Given the description of an element on the screen output the (x, y) to click on. 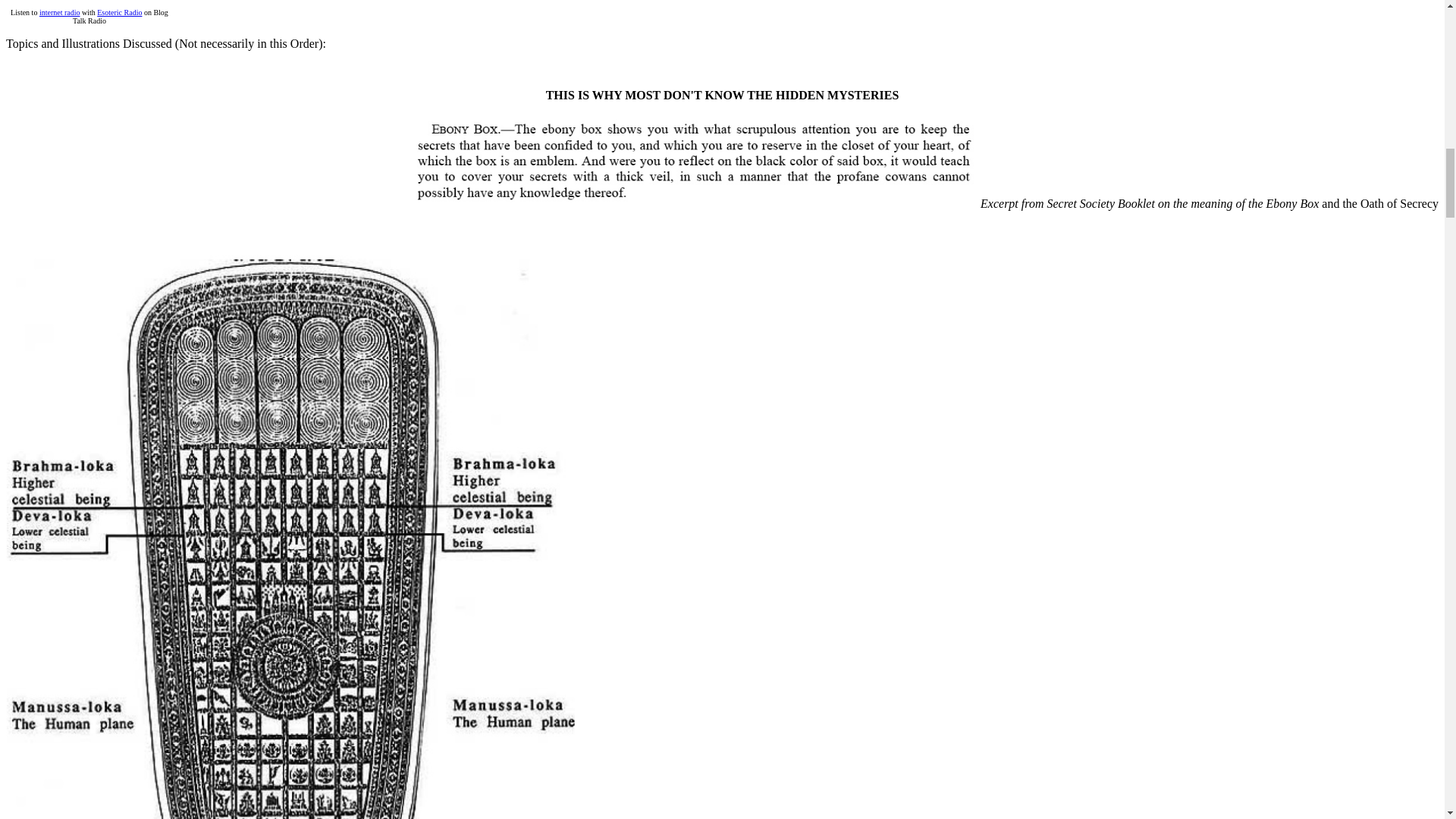
internet radio (59, 12)
Esoteric Radio (119, 12)
